Given the description of an element on the screen output the (x, y) to click on. 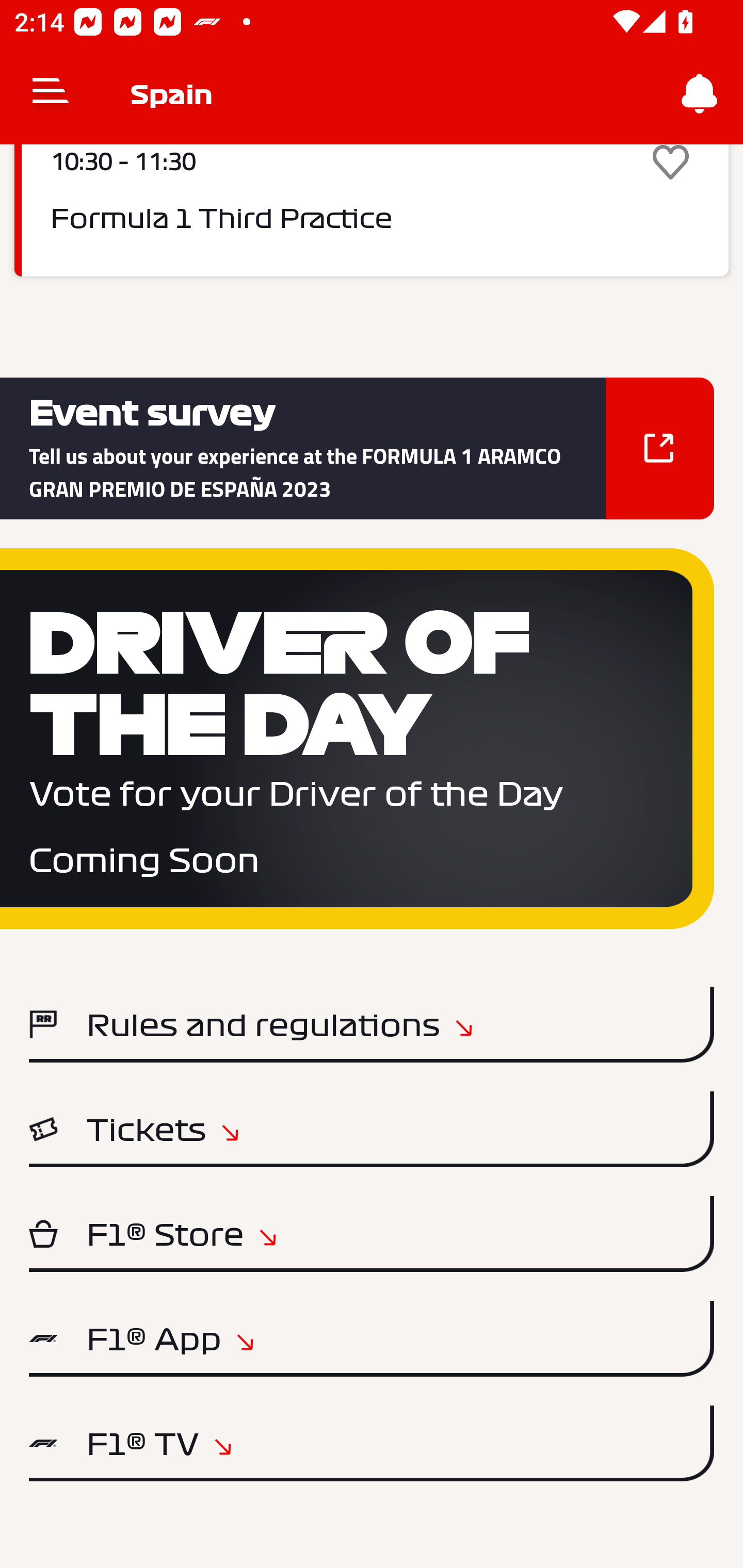
Navigate up (50, 93)
Notifications (699, 93)
10:30 - 11:30 Formula 1 Third Practice (371, 209)
Rules and regulations (371, 1024)
Tickets (371, 1128)
F1® Store (371, 1233)
F1® App (371, 1338)
F1® TV (371, 1442)
